Given the description of an element on the screen output the (x, y) to click on. 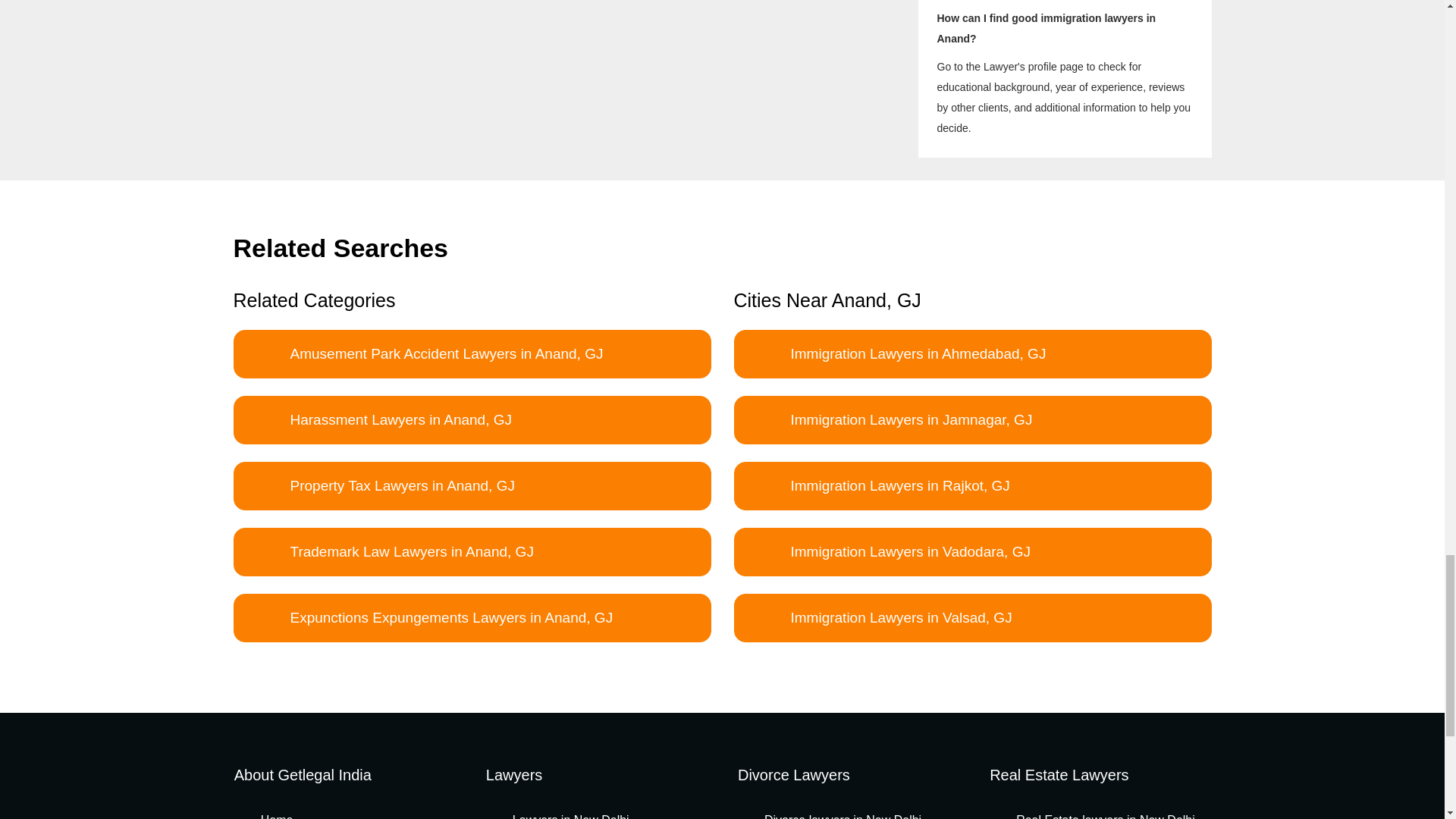
Home (267, 816)
Immigration Lawyers in Ahmedabad, GJ (972, 354)
Immigration Lawyers in Valsad, GJ (972, 617)
Harassment Lawyers in Anand, GJ (471, 419)
Lawyers in New Delhi (560, 816)
Immigration Lawyers in Rajkot, GJ (972, 485)
Trademark Law Lawyers in Anand, GJ (471, 551)
Immigration Lawyers in Jamnagar, GJ (972, 419)
Amusement Park Accident Lawyers in Anand, GJ (471, 354)
Immigration Lawyers in Ahmedabad, GJ (972, 354)
